Given the description of an element on the screen output the (x, y) to click on. 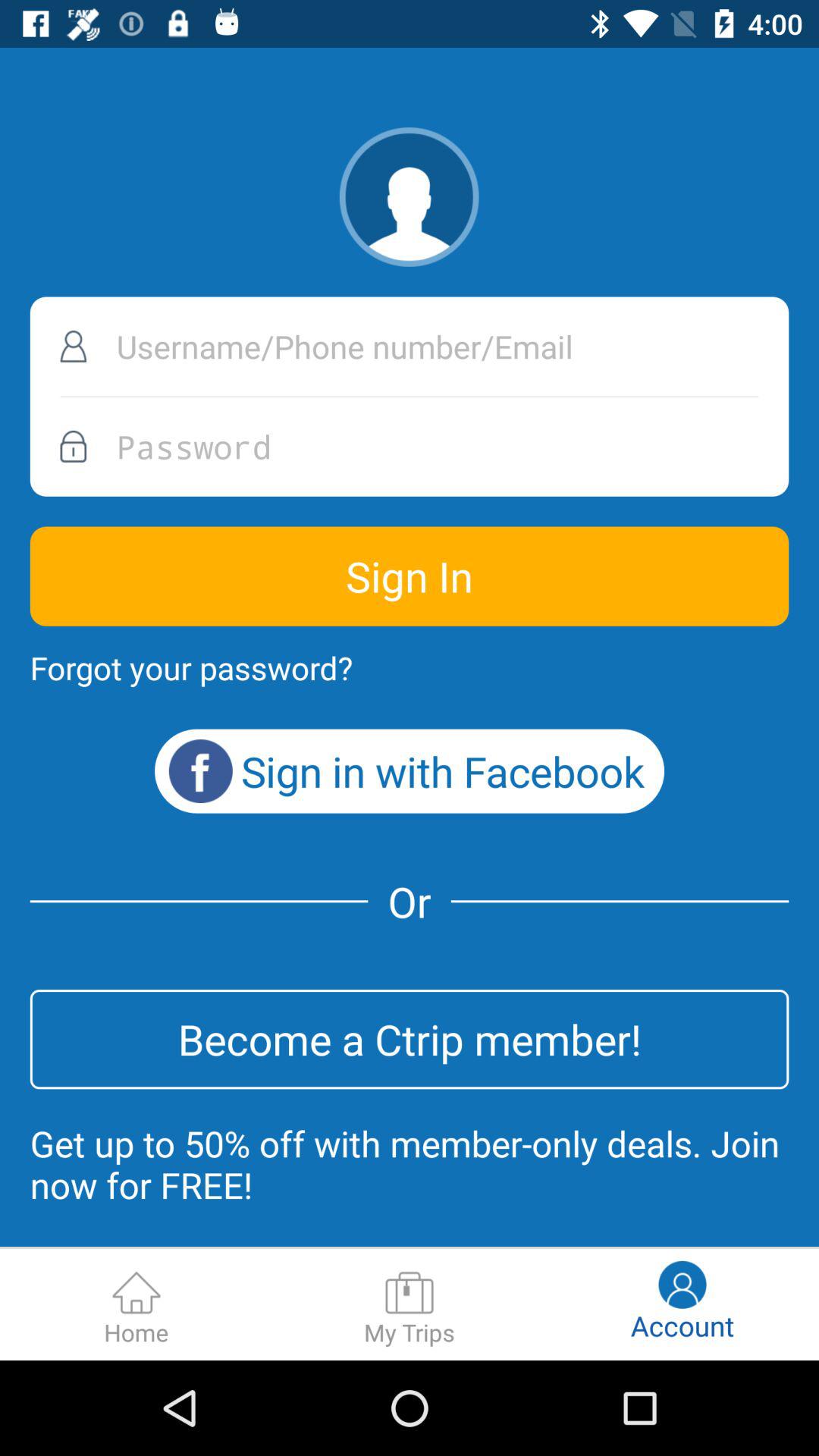
swipe to forgot your password? item (191, 667)
